Given the description of an element on the screen output the (x, y) to click on. 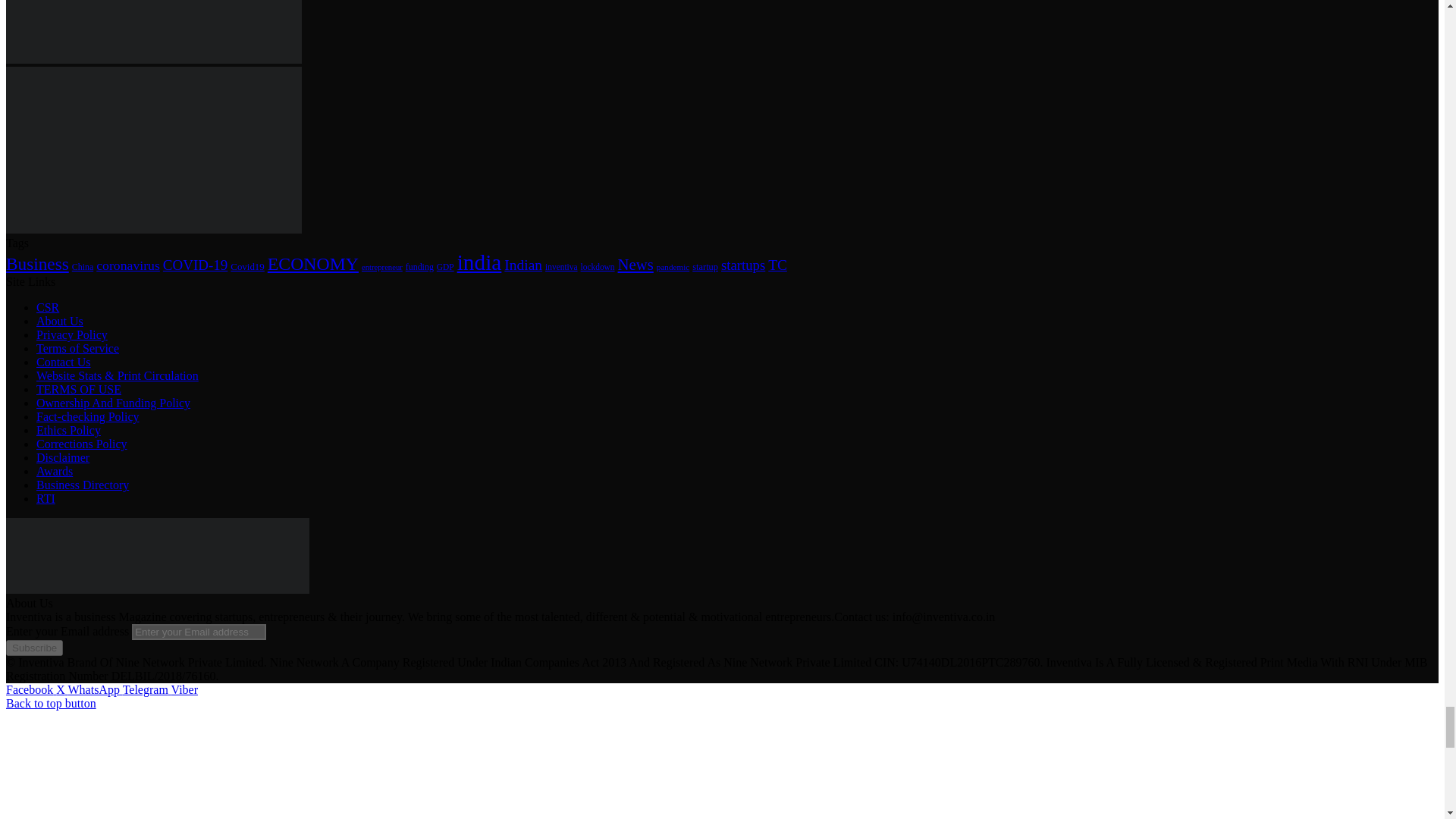
Subscribe (33, 647)
